Given the description of an element on the screen output the (x, y) to click on. 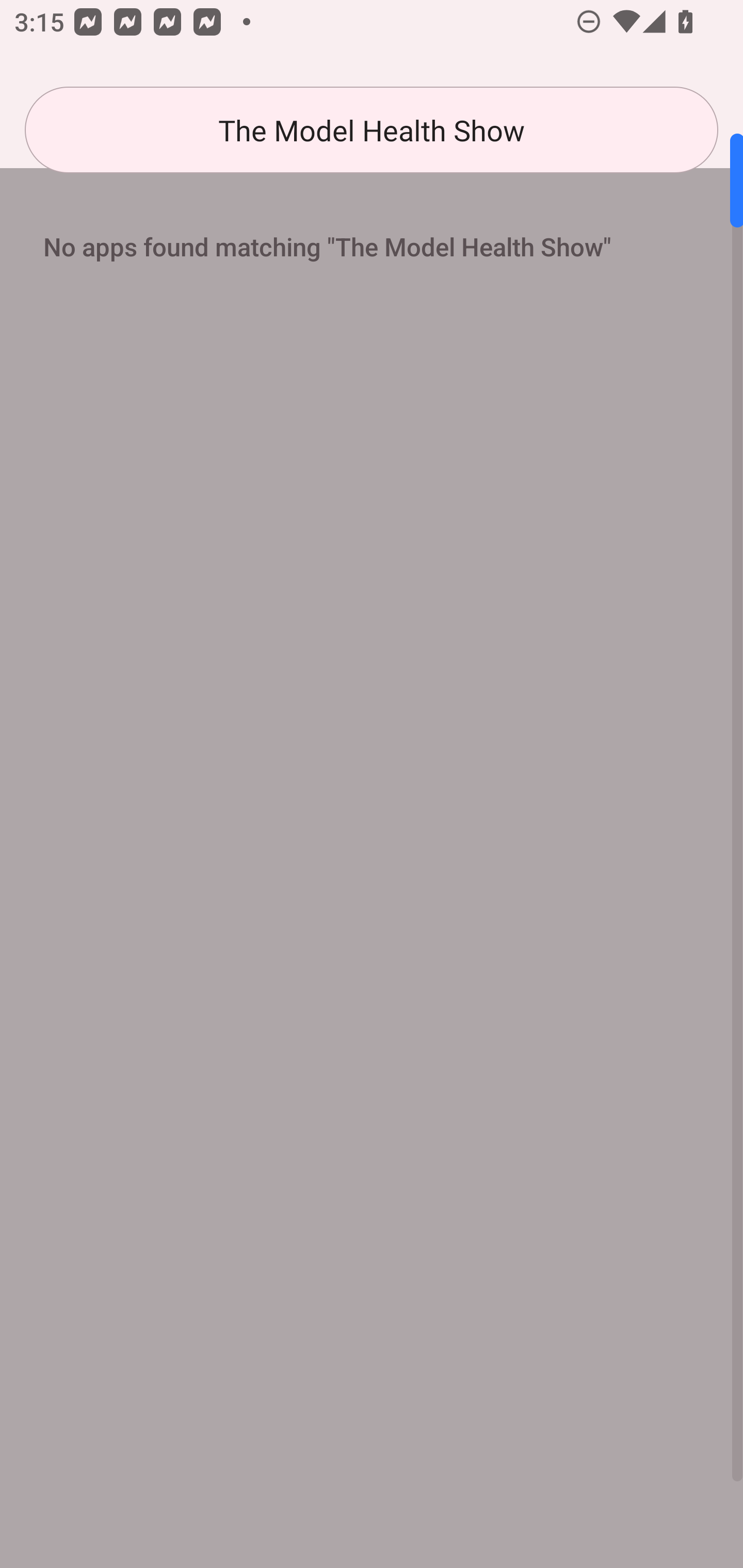
The Model Health Show (371, 130)
